Given the description of an element on the screen output the (x, y) to click on. 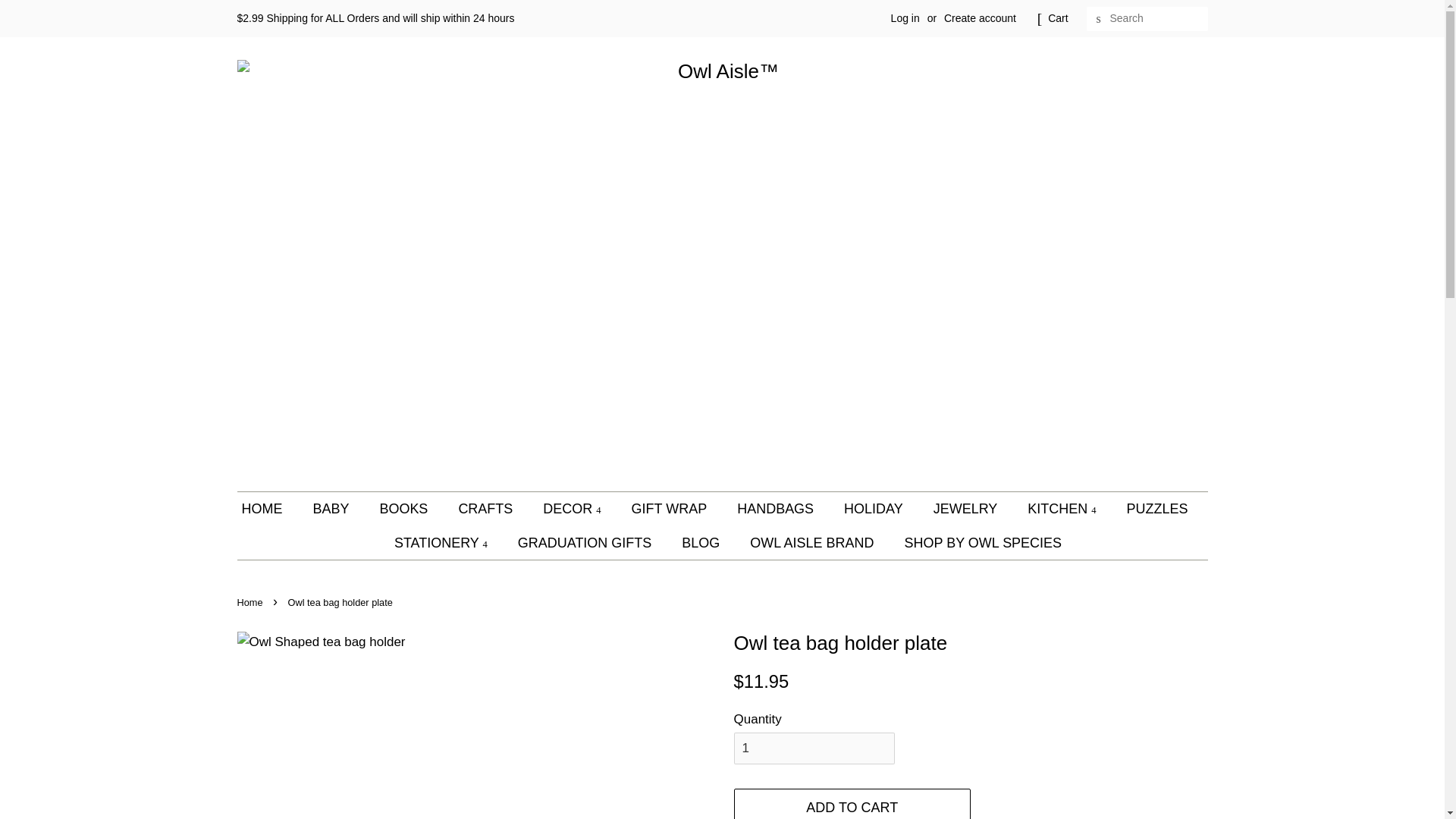
Back to the frontpage (250, 602)
Cart (1057, 18)
SEARCH (1097, 18)
Create account (979, 18)
Log in (905, 18)
1 (814, 748)
